Given the description of an element on the screen output the (x, y) to click on. 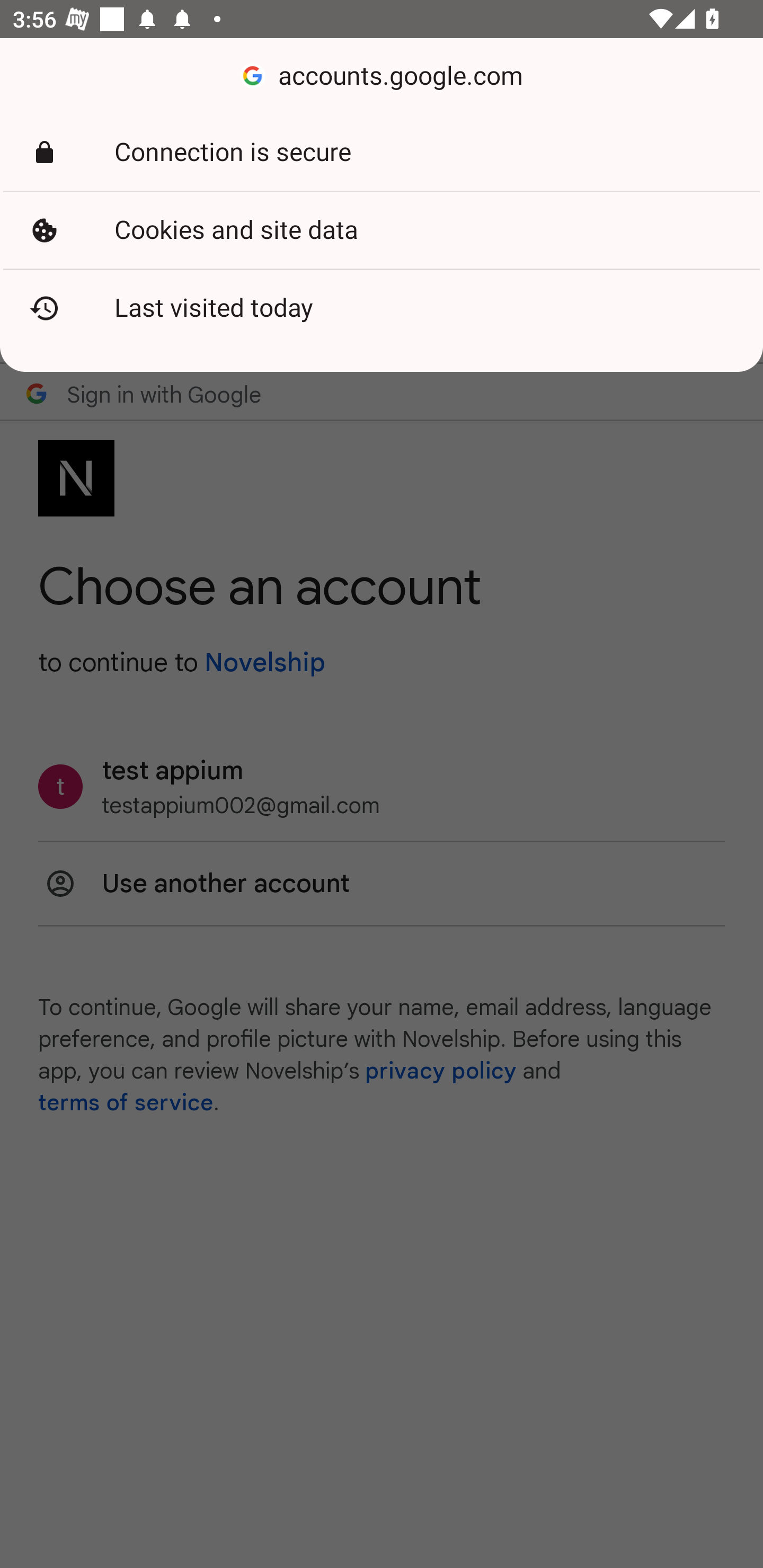
accounts.google.com (381, 75)
Connection is secure (381, 152)
Cookies and site data (381, 230)
Last visited today (381, 307)
